Given the description of an element on the screen output the (x, y) to click on. 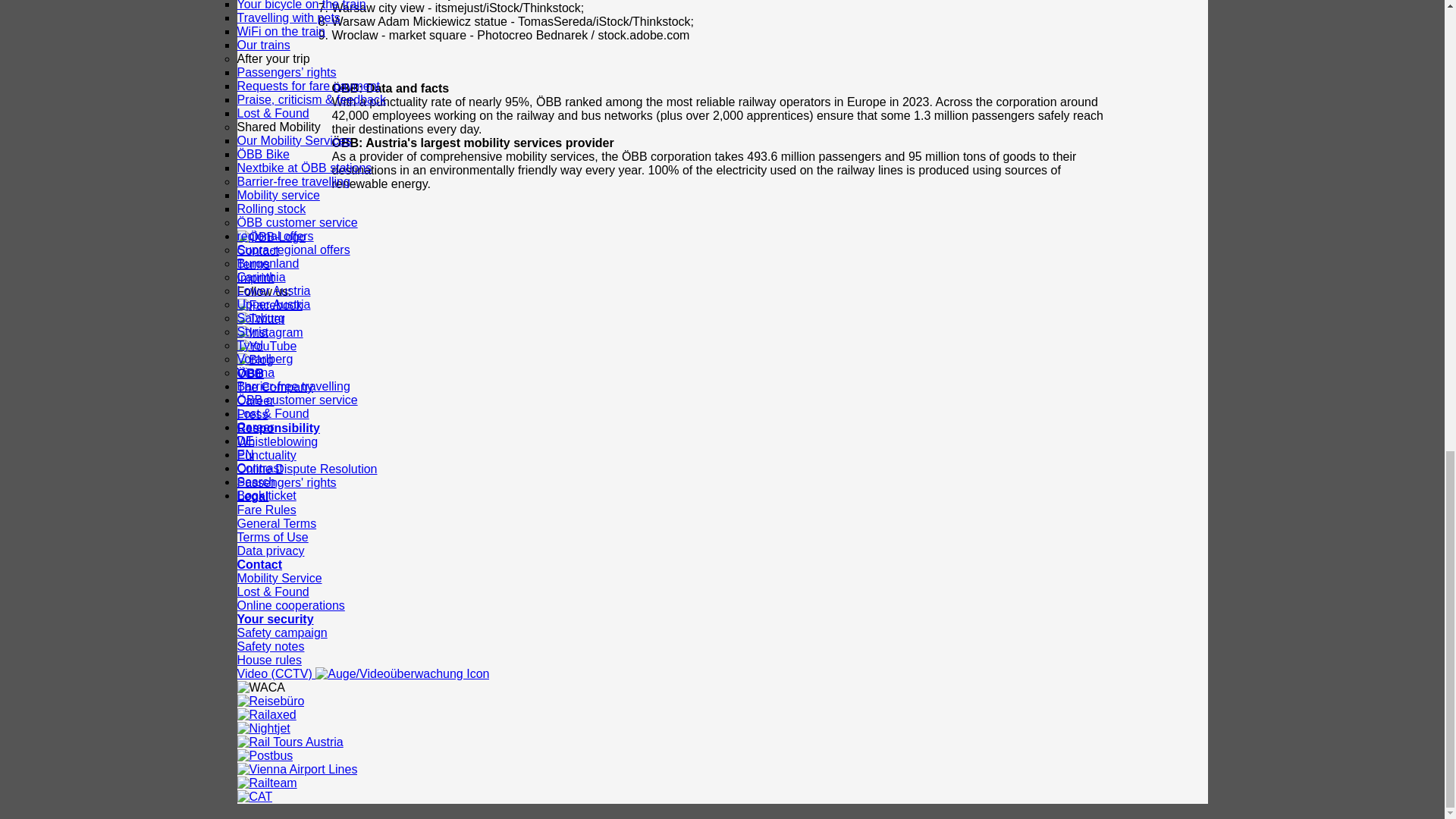
External website (254, 427)
Barrier-free travelling (292, 386)
